Given the description of an element on the screen output the (x, y) to click on. 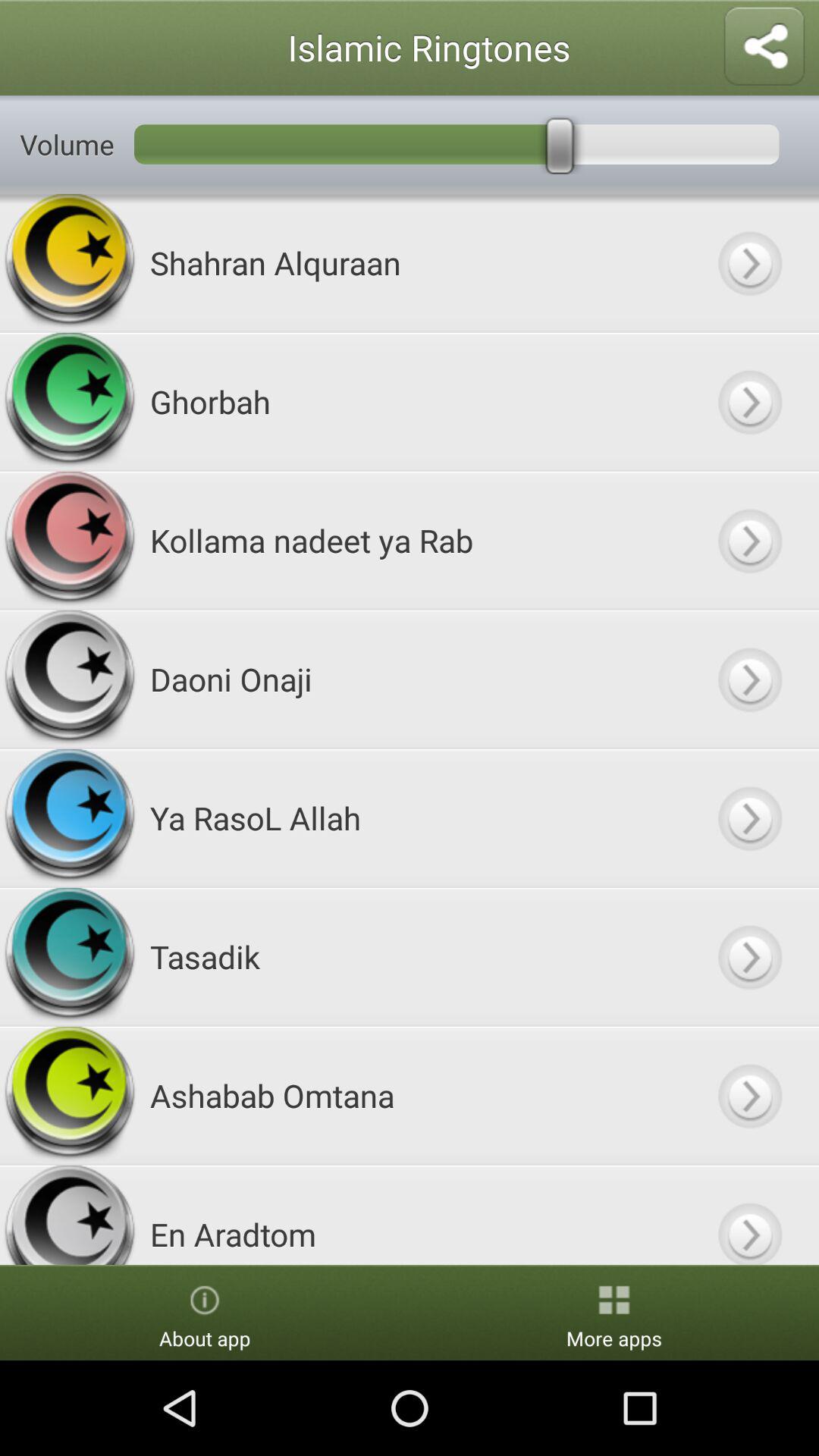
click button (749, 1095)
